Given the description of an element on the screen output the (x, y) to click on. 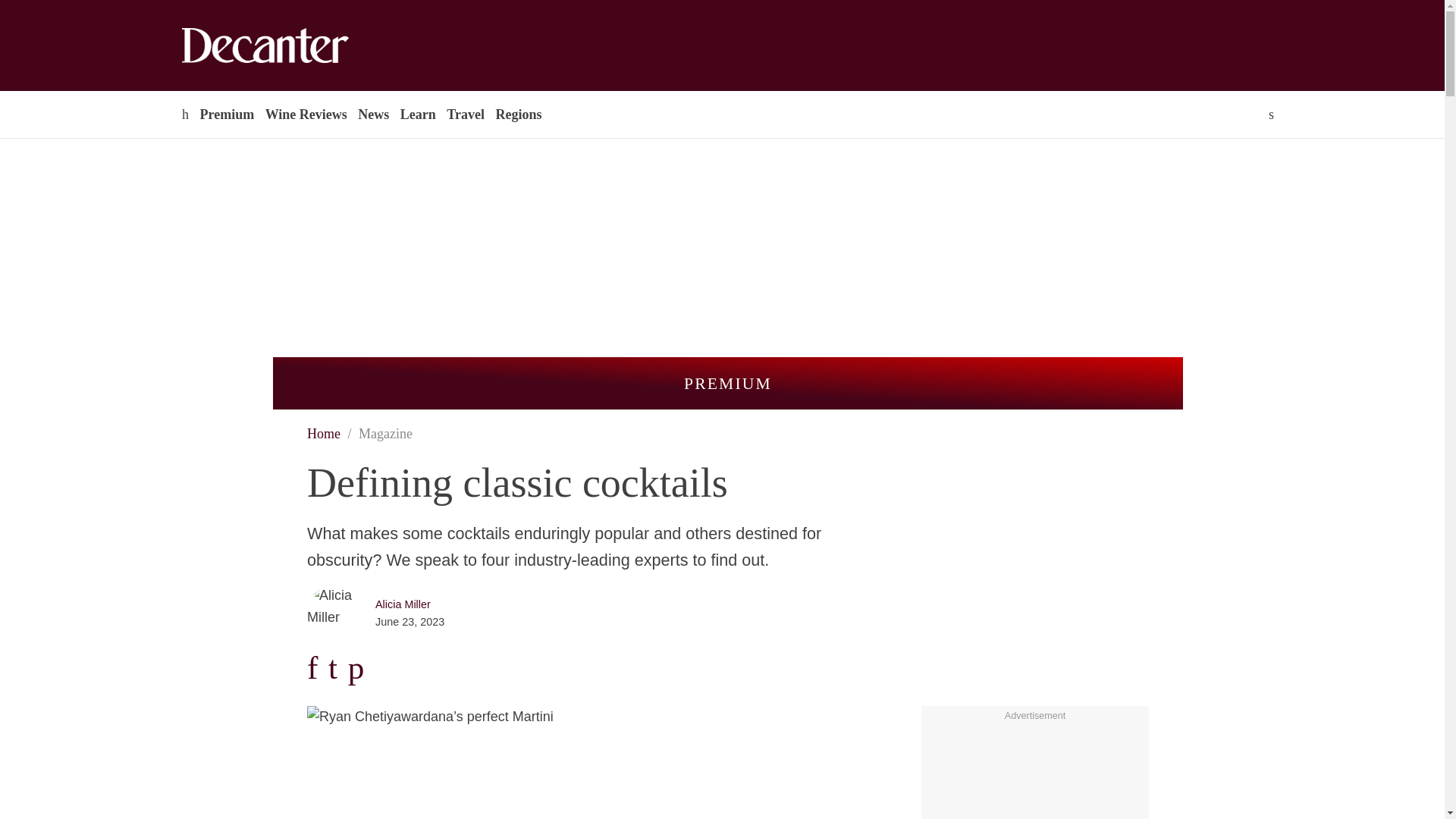
Premium (226, 114)
Wine Reviews (306, 114)
Learn (417, 114)
Travel (464, 114)
Decanter (297, 45)
